Given the description of an element on the screen output the (x, y) to click on. 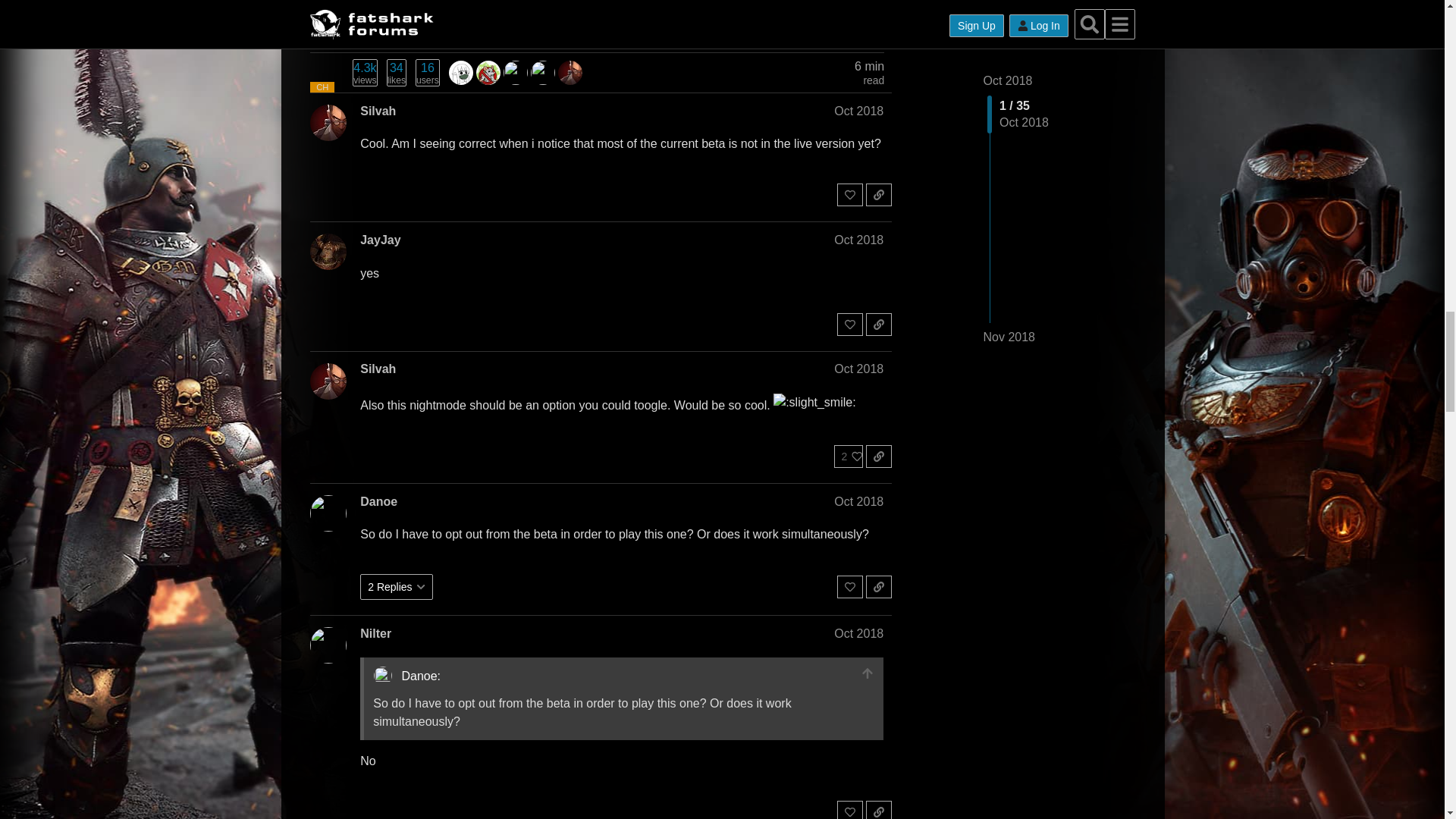
copy a link to this post to clipboard (878, 24)
6 people liked this post (848, 24)
NoobSlayer (488, 72)
NoobSlayer (488, 71)
Silvah (377, 111)
3 Replies (395, 23)
SmokerT69 (460, 72)
Oct 2018 (858, 110)
6 (848, 24)
SmokerT69 (460, 71)
